Given the description of an element on the screen output the (x, y) to click on. 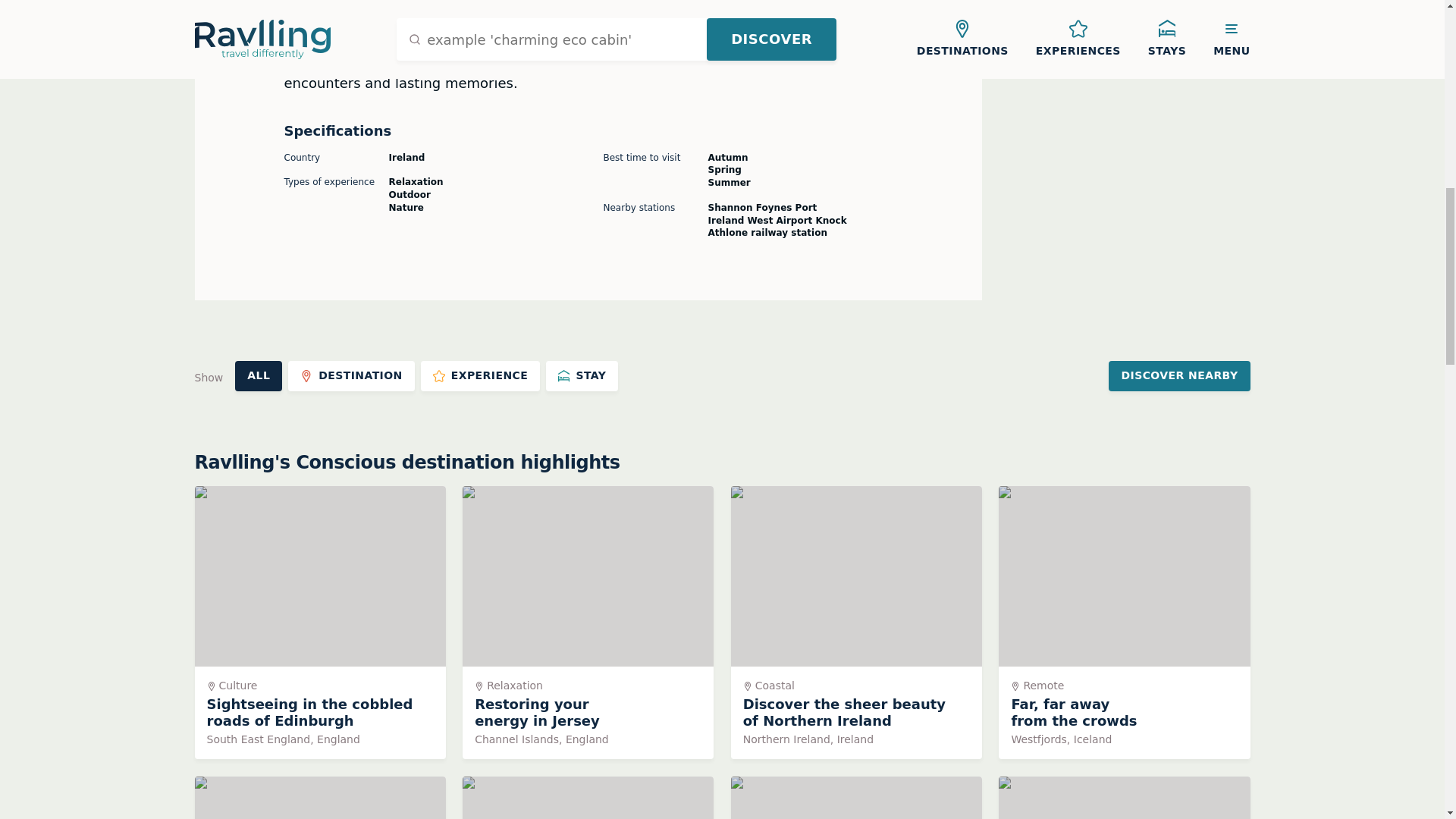
To the end of Europe and back (319, 797)
DISCOVER NEARBY (1178, 376)
STAY (581, 376)
EXPERIENCE (480, 376)
Sightseeing in the cobbled roads of Edinburgh (319, 622)
Discover the sheer beauty of Northern Ireland (319, 797)
Marvel at the midnight sun and northern lights (855, 622)
DESTINATION (855, 797)
Enjoy the most sustainable city in Europe (351, 376)
